Given the description of an element on the screen output the (x, y) to click on. 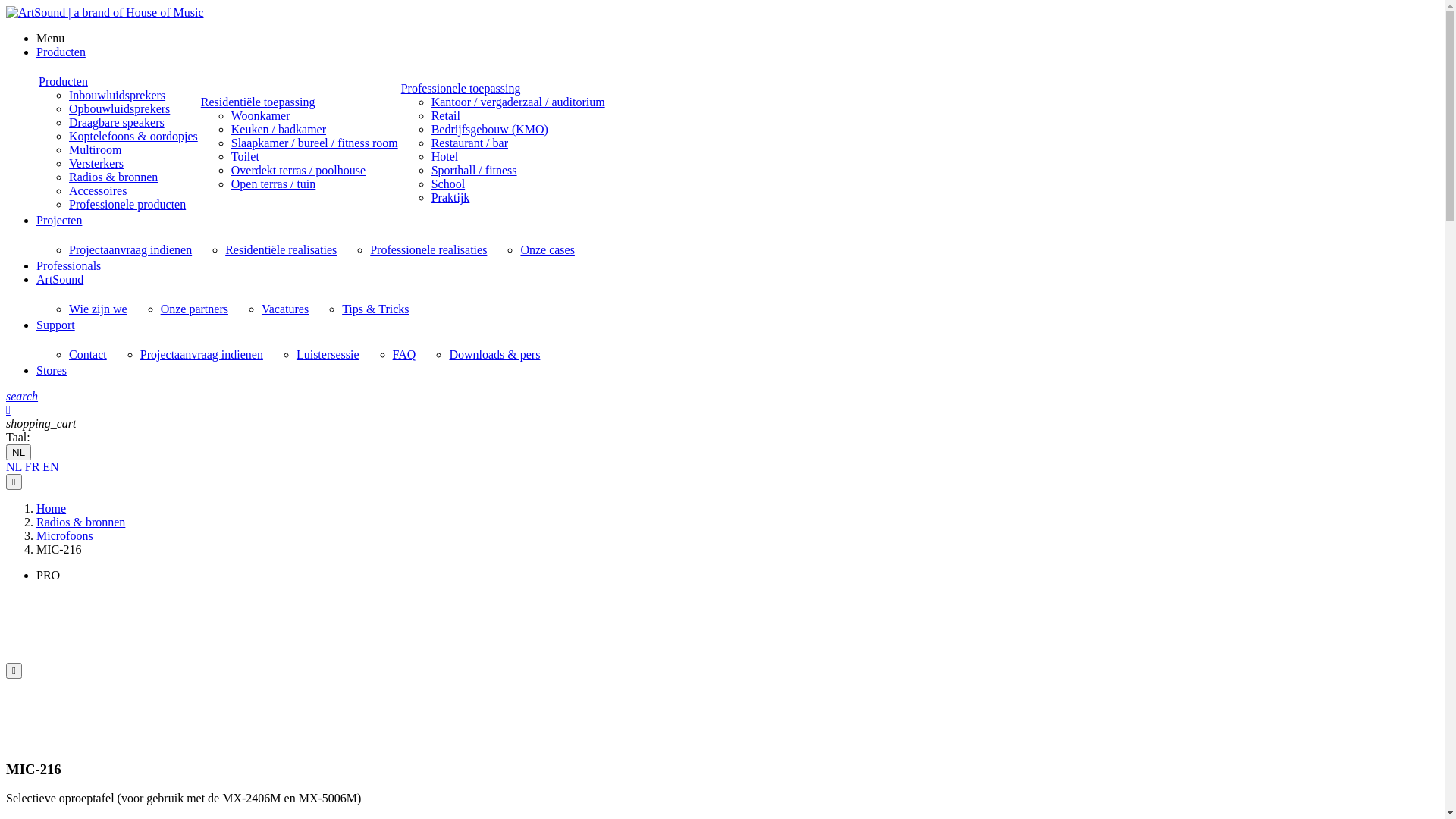
School Element type: text (447, 183)
Opbouwluidsprekers Element type: text (119, 108)
Onze partners Element type: text (194, 308)
Projectaanvraag indienen Element type: text (130, 249)
Bedrijfsgebouw (KMO) Element type: text (489, 128)
FAQ Element type: text (404, 354)
Microfoons Element type: text (64, 535)
Projectaanvraag indienen Element type: text (201, 354)
Downloads & pers Element type: text (493, 354)
NL Element type: text (18, 452)
Retail Element type: text (445, 115)
Tips & Tricks Element type: text (375, 308)
Multiroom Element type: text (95, 149)
Professionele toepassing Element type: text (460, 87)
Slaapkamer / bureel / fitness room Element type: text (314, 142)
Koptelefoons & oordopjes Element type: text (133, 135)
Professionele realisaties Element type: text (428, 249)
Versterkers Element type: text (96, 162)
Producten Element type: text (62, 81)
Onze cases Element type: text (547, 249)
EN Element type: text (50, 466)
Accessoires Element type: text (97, 190)
Open terras / tuin Element type: text (273, 183)
ArtSound Element type: text (59, 279)
Radios & bronnen Element type: text (80, 521)
Keuken / badkamer Element type: text (278, 128)
Sporthall / fitness Element type: text (474, 169)
Overdekt terras / poolhouse Element type: text (298, 169)
Projecten Element type: text (58, 219)
FR Element type: text (32, 466)
Professionals Element type: text (68, 265)
NL Element type: text (13, 466)
Hotel Element type: text (444, 156)
Home Element type: text (50, 508)
Praktijk Element type: text (450, 197)
Contact Element type: text (87, 354)
Stores Element type: text (51, 370)
Producten Element type: text (60, 51)
Toilet Element type: text (245, 156)
Menu Element type: text (50, 37)
Support Element type: text (55, 324)
Radios & bronnen Element type: text (113, 176)
Inbouwluidsprekers Element type: text (117, 94)
Restaurant / bar Element type: text (469, 142)
Vacatures Element type: text (284, 308)
Professionele producten Element type: text (127, 203)
Luistersessie Element type: text (327, 354)
Woonkamer Element type: text (260, 115)
Draagbare speakers Element type: text (116, 122)
Wie zijn we Element type: text (98, 308)
search Element type: text (21, 395)
Kantoor / vergaderzaal / auditorium Element type: text (518, 101)
